Given the description of an element on the screen output the (x, y) to click on. 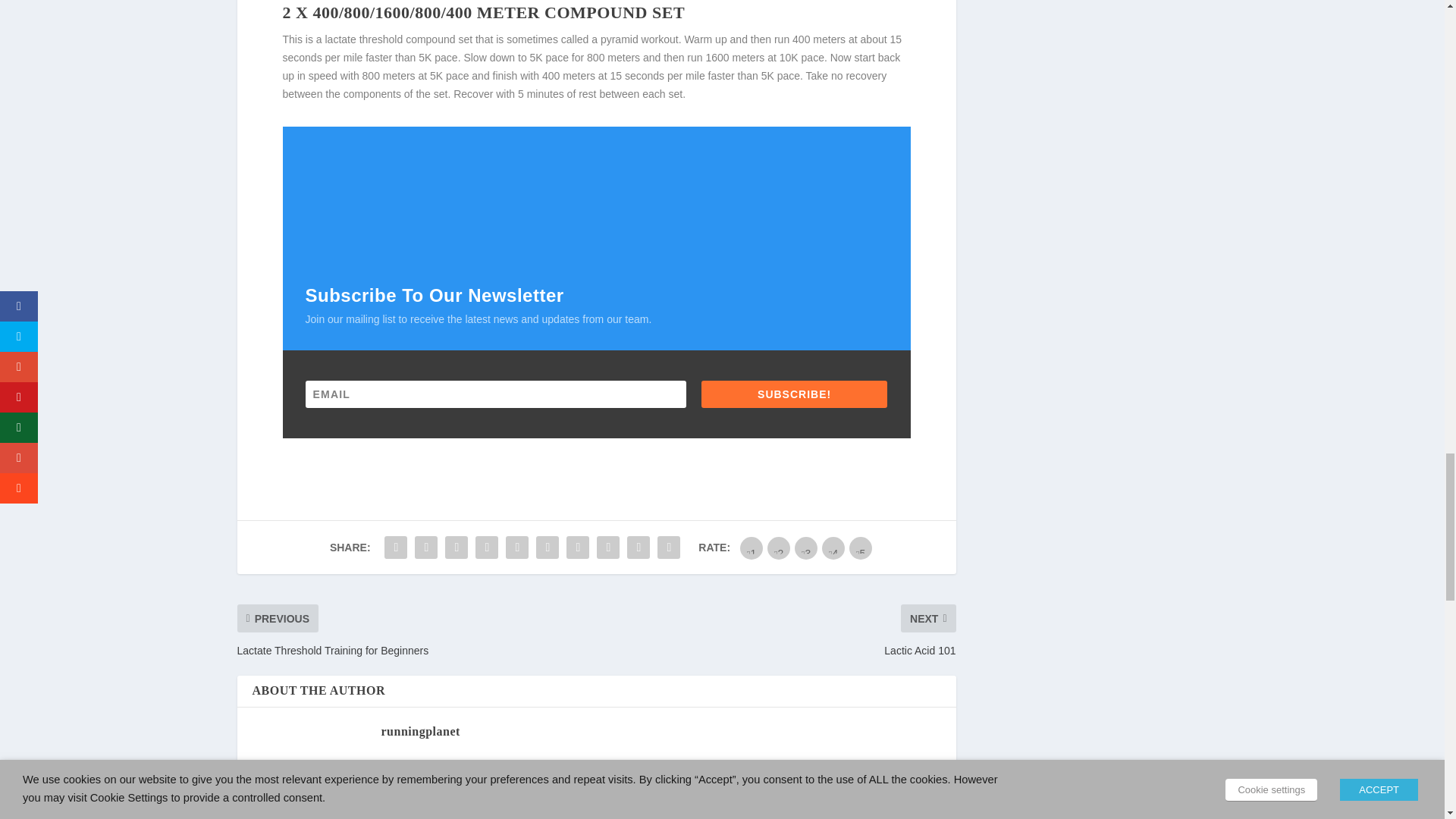
Share "Lactate Turn Point Training" via Facebook (395, 547)
Share "Lactate Turn Point Training" via Twitter (425, 547)
Share "Lactate Turn Point Training" via Email (638, 547)
Share "Lactate Turn Point Training" via Pinterest (517, 547)
Share "Lactate Turn Point Training" via Stumbleupon (607, 547)
Share "Lactate Turn Point Training" via LinkedIn (547, 547)
Share "Lactate Turn Point Training" via Buffer (577, 547)
Share "Lactate Turn Point Training" via Tumblr (486, 547)
Share "Lactate Turn Point Training" via Print (668, 547)
